Given the description of an element on the screen output the (x, y) to click on. 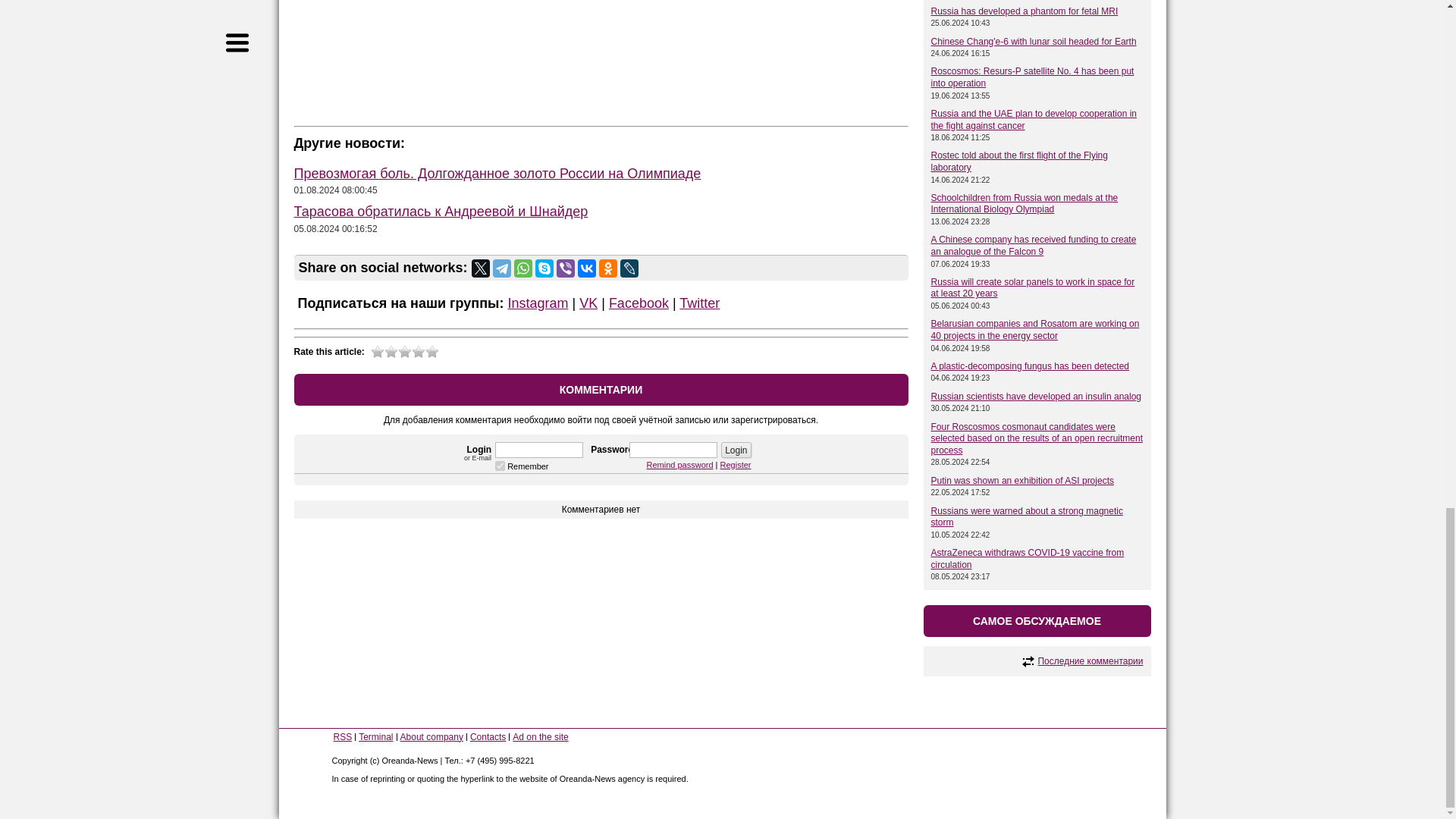
Telegram (502, 268)
WhatsApp (522, 268)
Skype (544, 268)
Login (735, 449)
LiveJournal (629, 268)
1 (500, 465)
Viber (565, 268)
Twitter (480, 268)
